Given the description of an element on the screen output the (x, y) to click on. 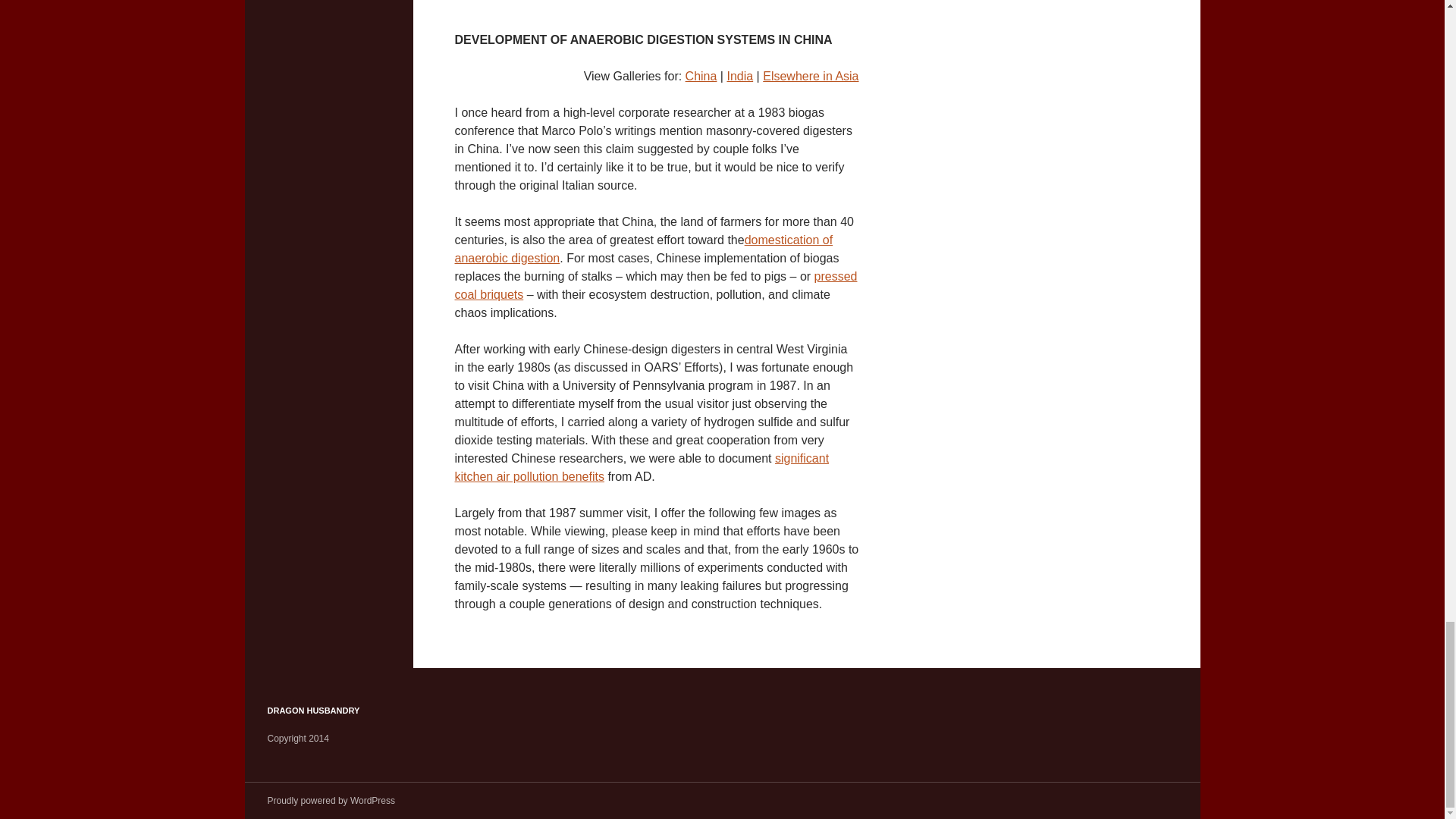
Intro to Agricultural Systems (655, 285)
Elsewhere Gallery (810, 75)
China Gallery (701, 75)
India Gallery (739, 75)
